Given the description of an element on the screen output the (x, y) to click on. 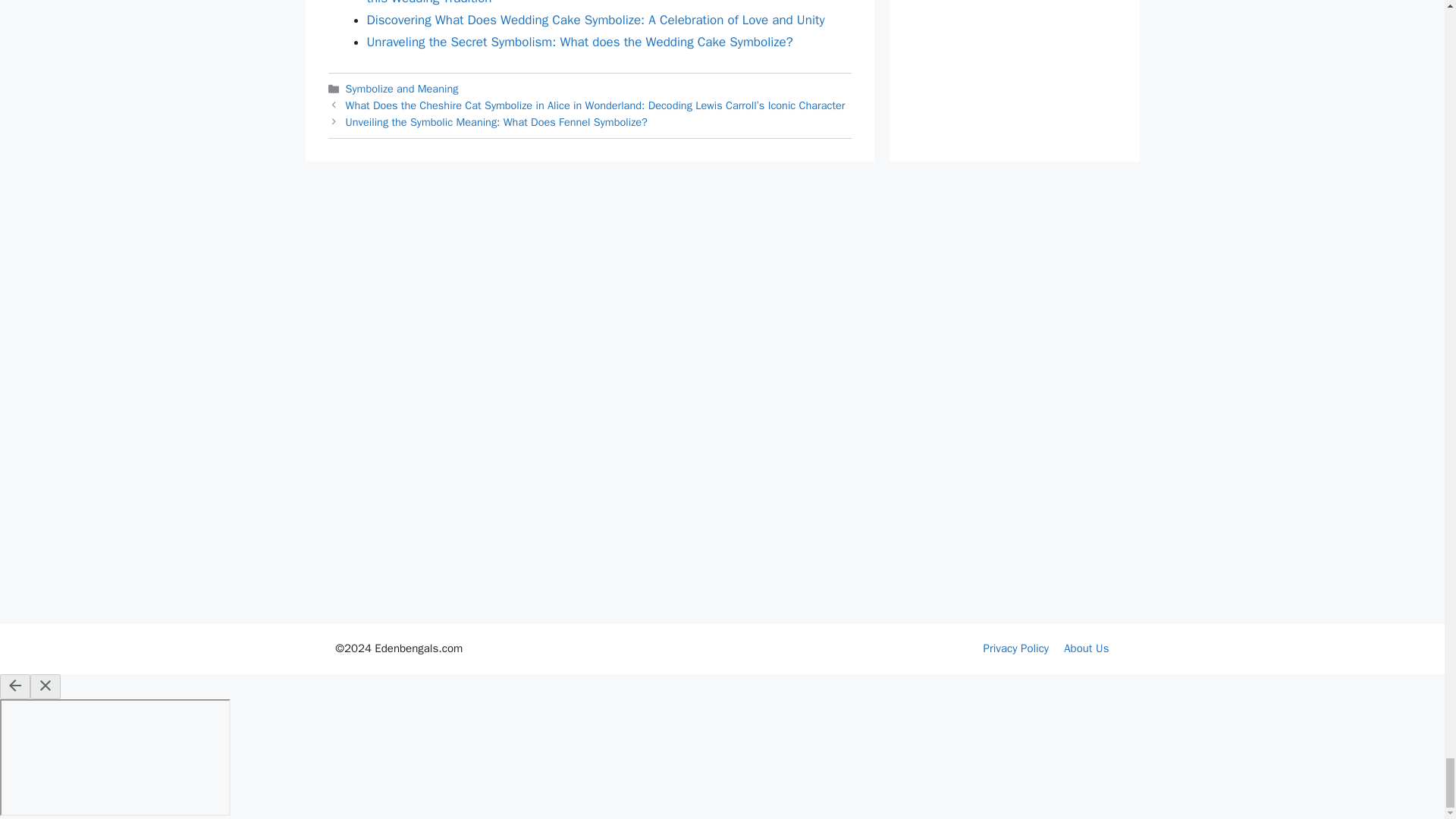
About Us (1086, 648)
Unveiling the Symbolic Meaning: What Does Fennel Symbolize? (496, 121)
Symbolize and Meaning (402, 88)
Privacy Policy (1016, 648)
